Given the description of an element on the screen output the (x, y) to click on. 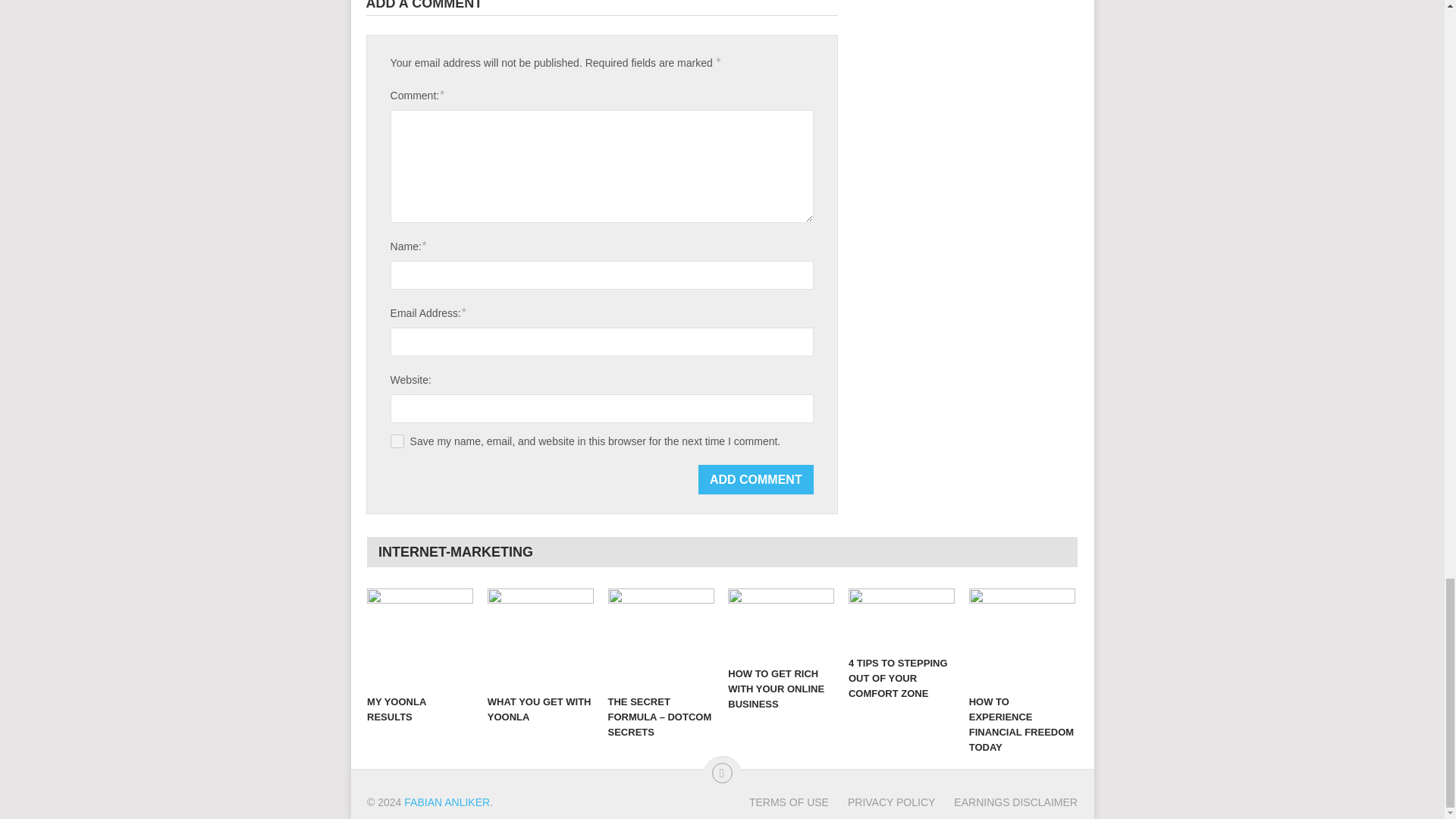
4 Tips To Stepping Out Of Your Comfort Zone (901, 618)
How to Get Rich with Your Online Business (781, 623)
What You Get With Yoonla (540, 637)
My Yoonla Results (419, 637)
yes (397, 440)
Add Comment (755, 479)
